Given the description of an element on the screen output the (x, y) to click on. 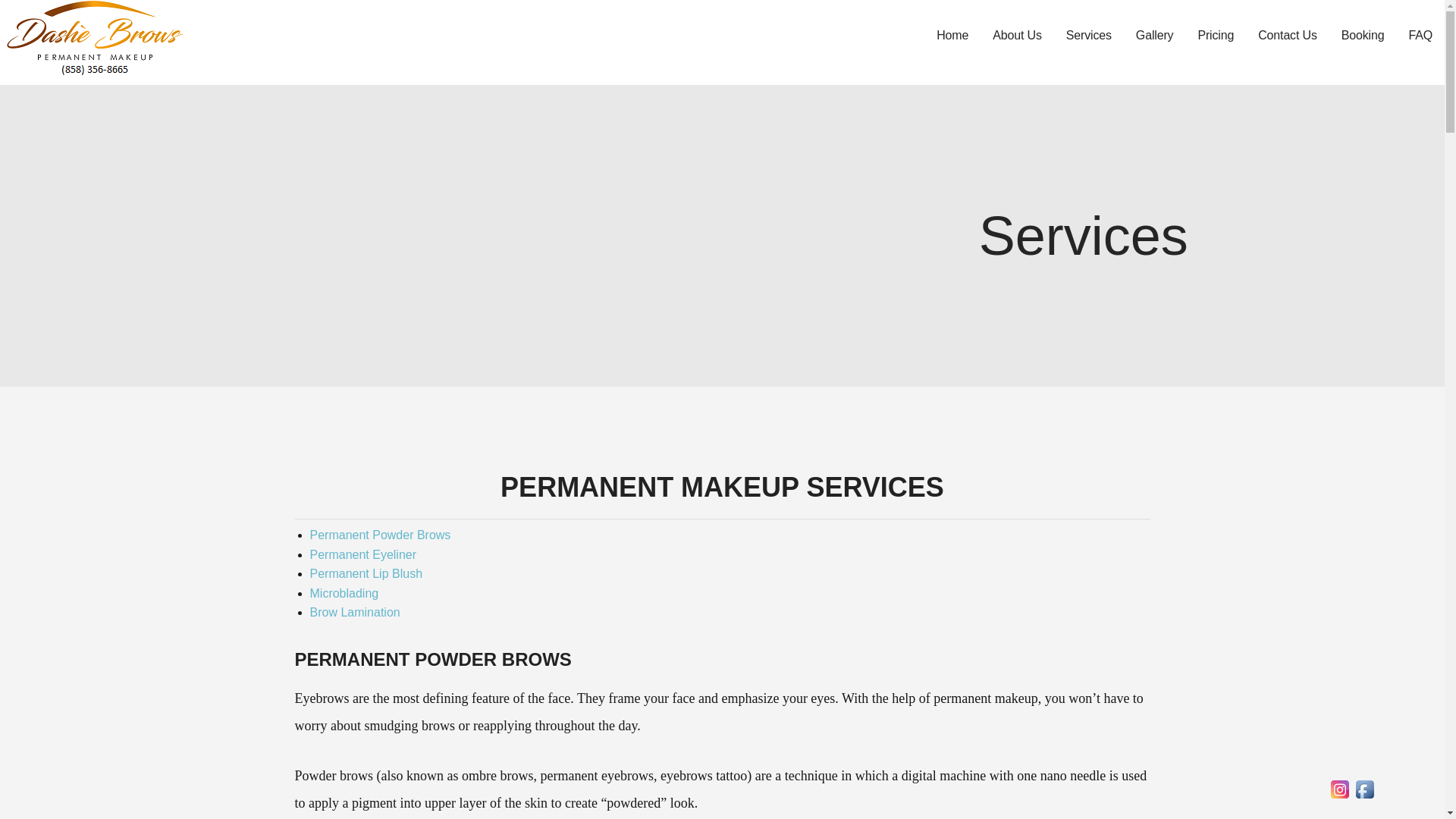
Permanent Powder Brows (378, 534)
Microblading (343, 593)
Contact Us (1287, 42)
Brow Lamination (353, 612)
Permanent Lip Blush (365, 573)
Visit Us On Instagram (1339, 797)
DASHE.US (42, 89)
Visit Us On Facebook (1364, 797)
Permanent Eyeliner (362, 554)
